Given the description of an element on the screen output the (x, y) to click on. 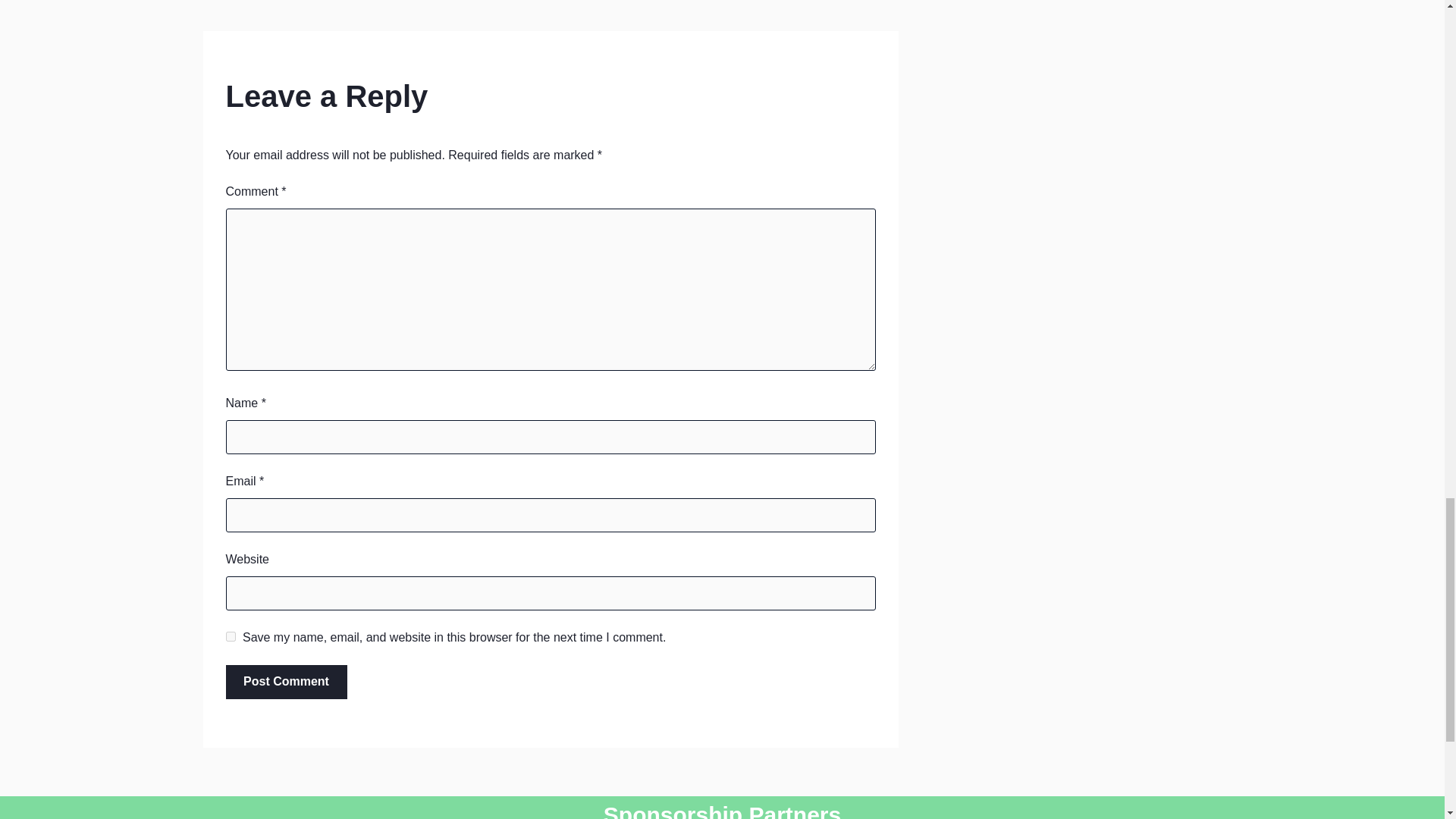
yes (230, 636)
Post Comment (286, 682)
Post Comment (286, 682)
